Given the description of an element on the screen output the (x, y) to click on. 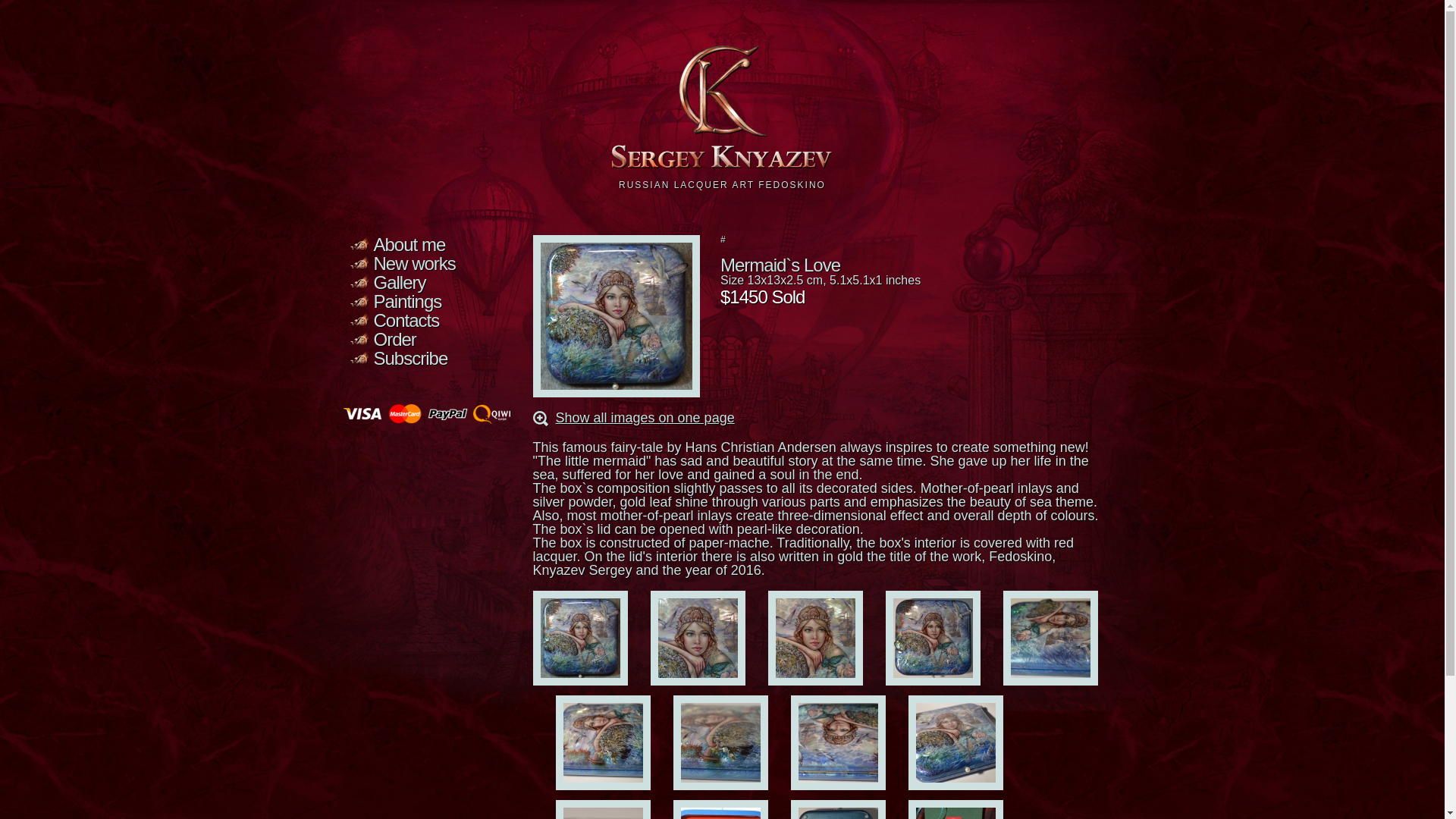
Gallery (398, 281)
Order (393, 339)
About me (408, 244)
Paintings (406, 301)
Subscribe (409, 358)
New works (413, 263)
Contacts (405, 320)
Show all images on one page (643, 417)
